Given the description of an element on the screen output the (x, y) to click on. 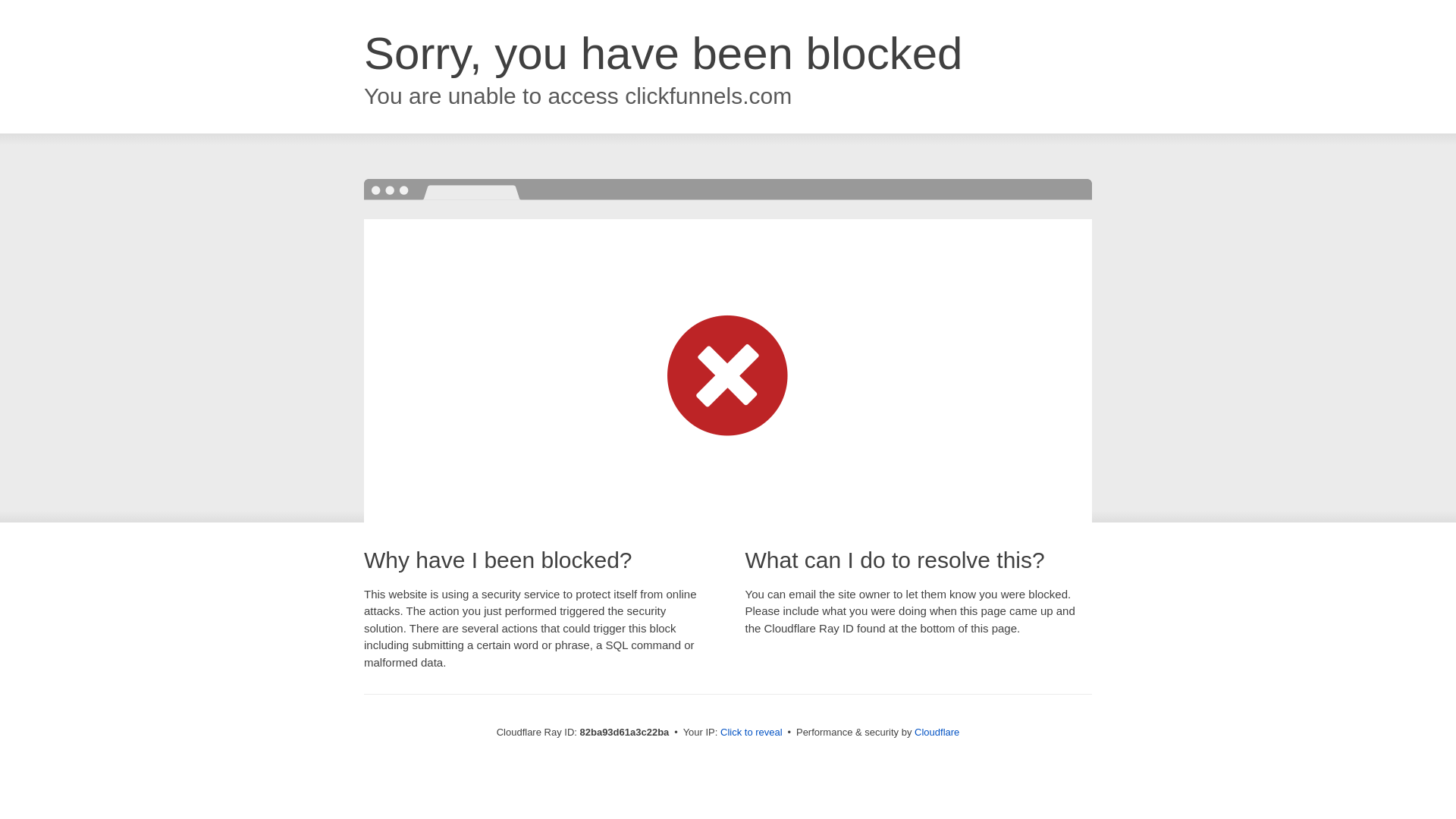
Cloudflare Element type: text (936, 731)
Click to reveal Element type: text (751, 732)
